Given the description of an element on the screen output the (x, y) to click on. 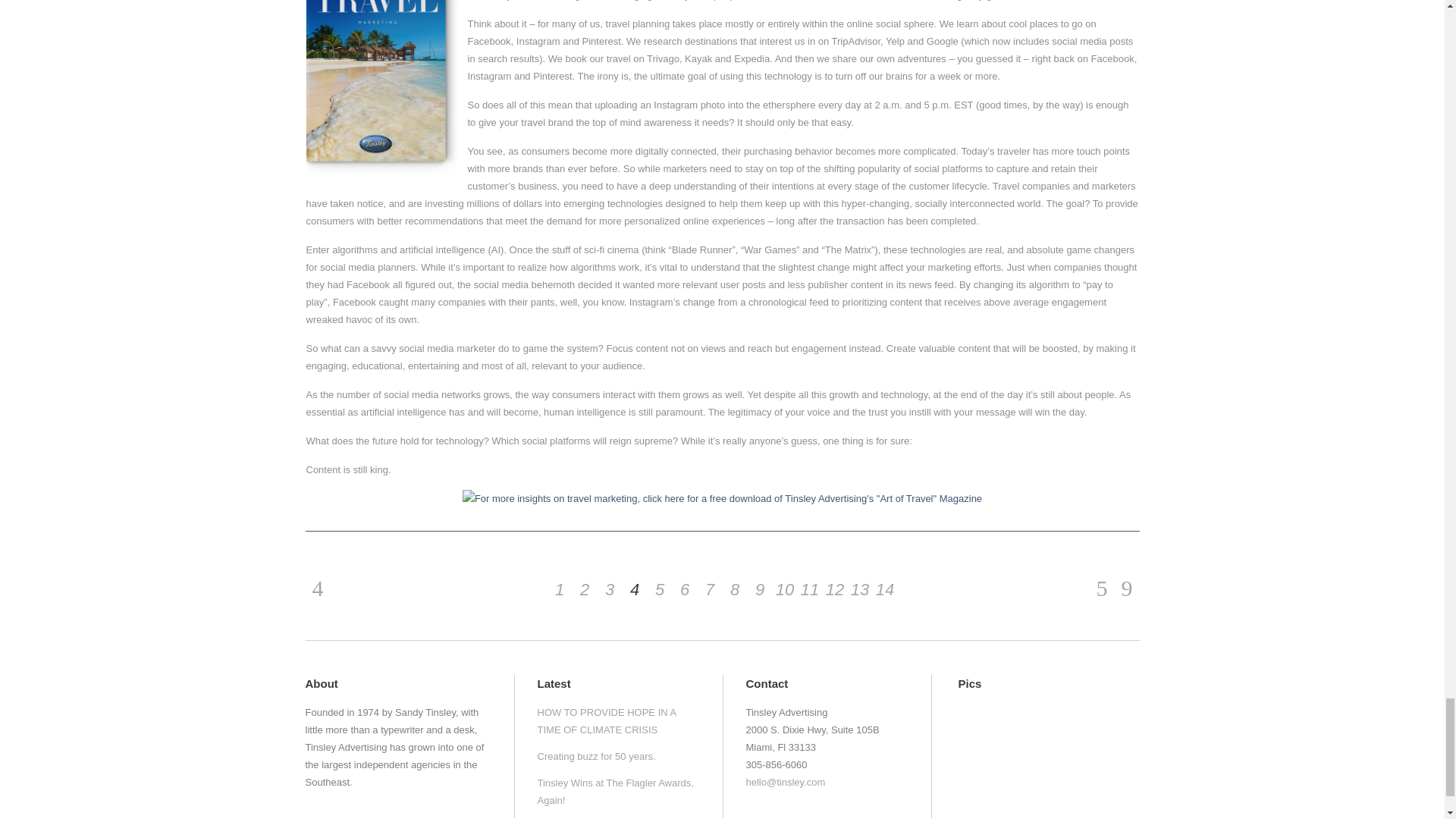
9 (760, 589)
3 (609, 589)
10 (783, 589)
7 (709, 589)
8 (734, 589)
2 (584, 589)
5 (659, 589)
6 (684, 589)
1 (559, 589)
